Given the description of an element on the screen output the (x, y) to click on. 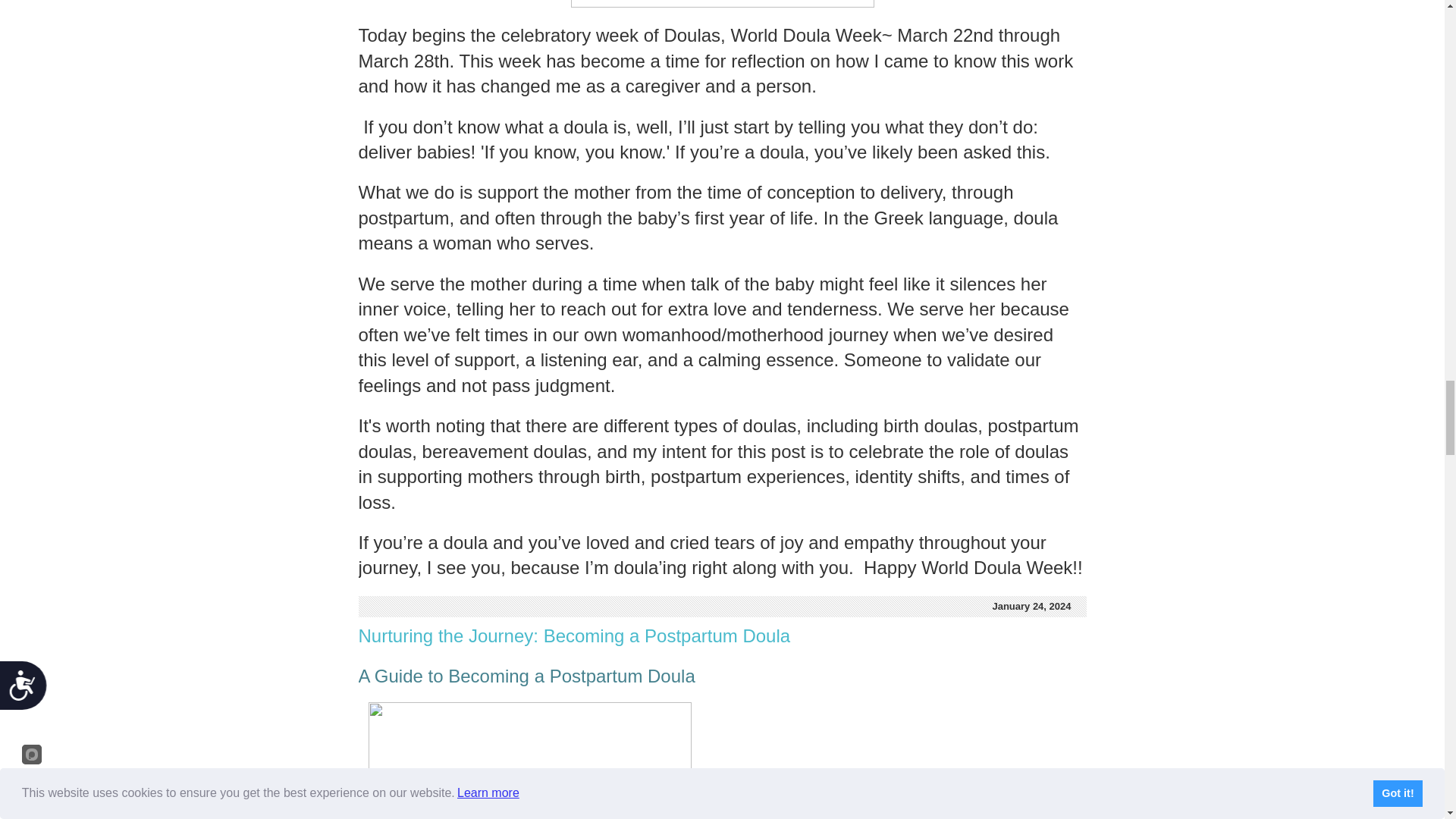
Nurturing the Journey: Becoming a Postpartum Doula (574, 635)
